Given the description of an element on the screen output the (x, y) to click on. 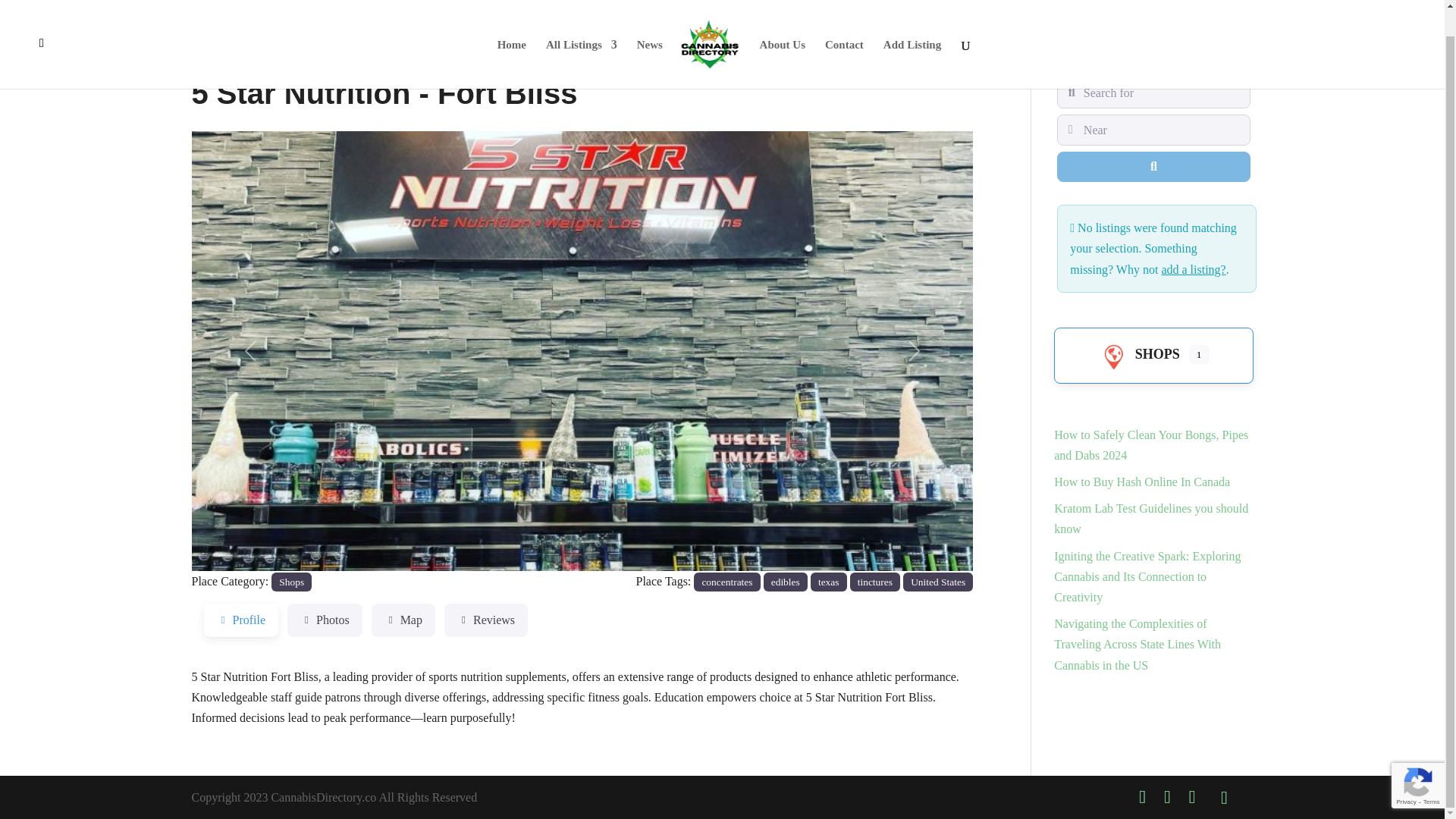
Photos (324, 620)
concentrates (727, 581)
Add Listing (911, 37)
Map (403, 620)
Profile (240, 620)
Map (403, 620)
United States (937, 581)
About Us (782, 37)
edibles (785, 581)
texas (828, 581)
